Given the description of an element on the screen output the (x, y) to click on. 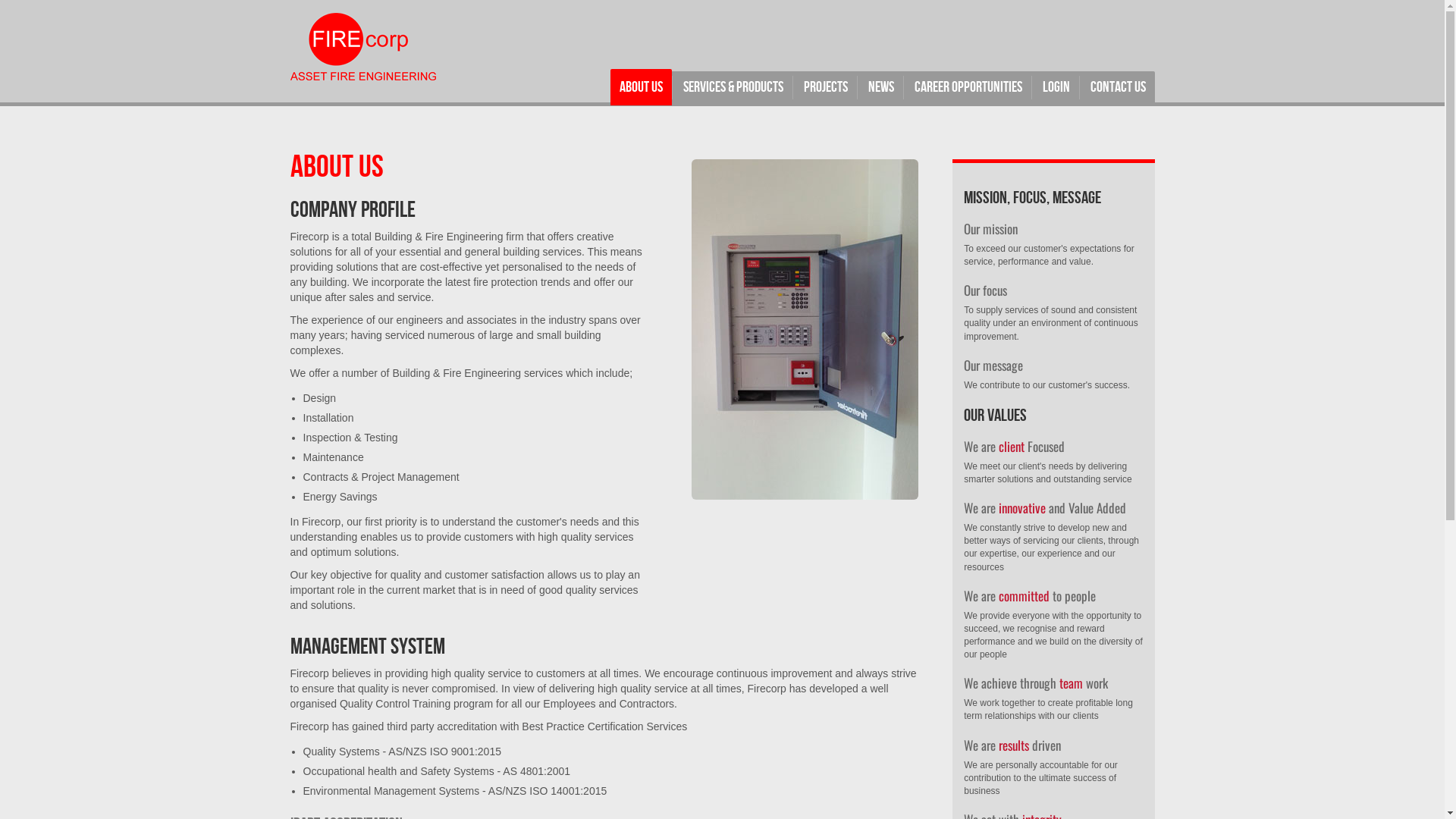
NEWS Element type: text (880, 87)
CONTACT US Element type: text (1117, 87)
CAREER OPPORTUNITIES Element type: text (968, 87)
ABOUT US Element type: text (640, 87)
PROJECTS Element type: text (825, 87)
SERVICES & PRODUCTS Element type: text (732, 87)
LOGIN Element type: text (1055, 87)
